Given the description of an element on the screen output the (x, y) to click on. 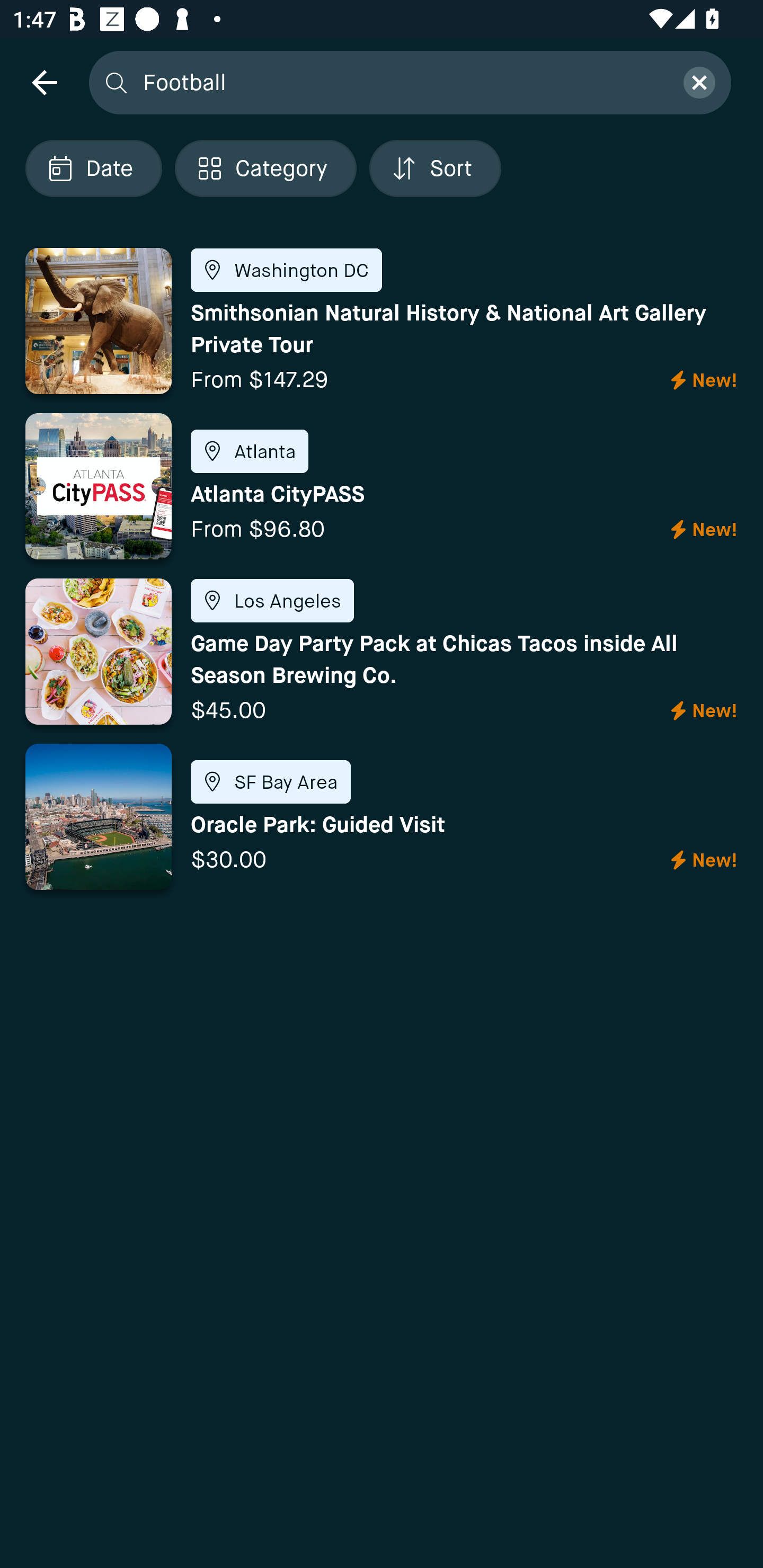
navigation icon (44, 81)
Football (402, 81)
Localized description Date (93, 168)
Localized description Category (265, 168)
Localized description Sort (435, 168)
